Given the description of an element on the screen output the (x, y) to click on. 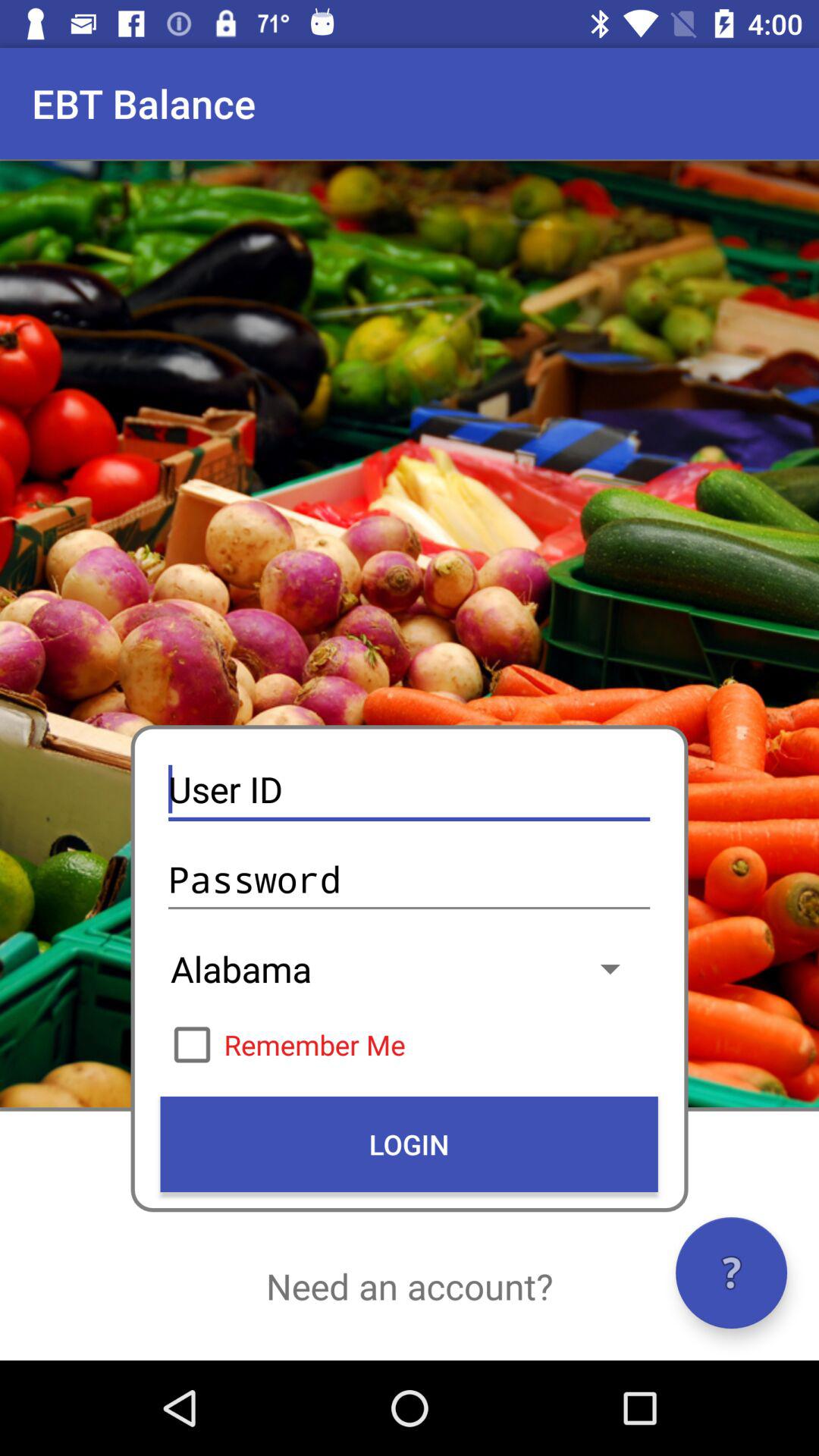
turn off the login (409, 1144)
